Given the description of an element on the screen output the (x, y) to click on. 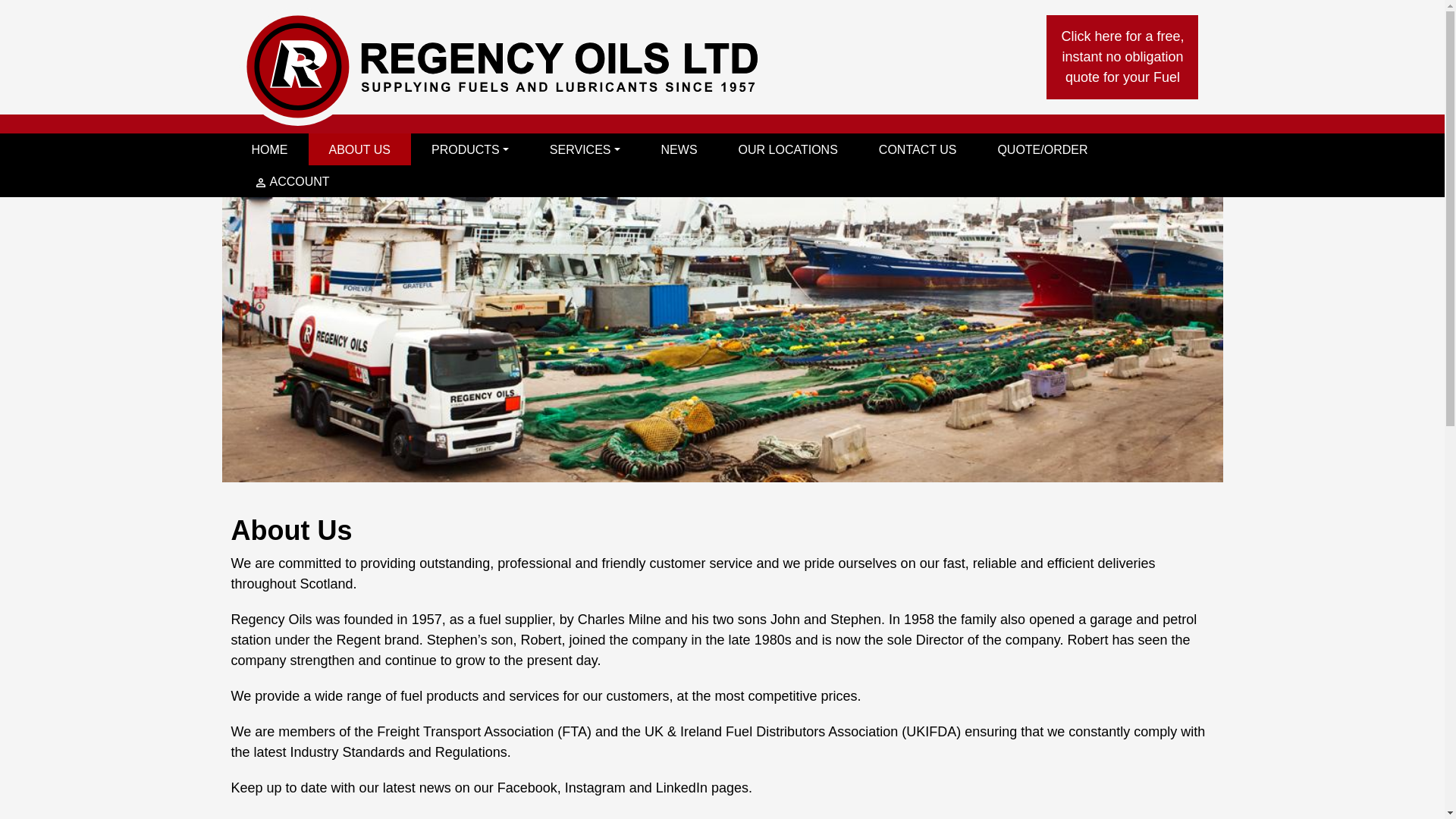
OUR LOCATIONS (788, 149)
SERVICES (584, 149)
PRODUCTS (469, 149)
CONTACT US (917, 149)
ABOUT US (358, 149)
ACCOUNT (289, 181)
NEWS (678, 149)
HOME (268, 149)
